Given the description of an element on the screen output the (x, y) to click on. 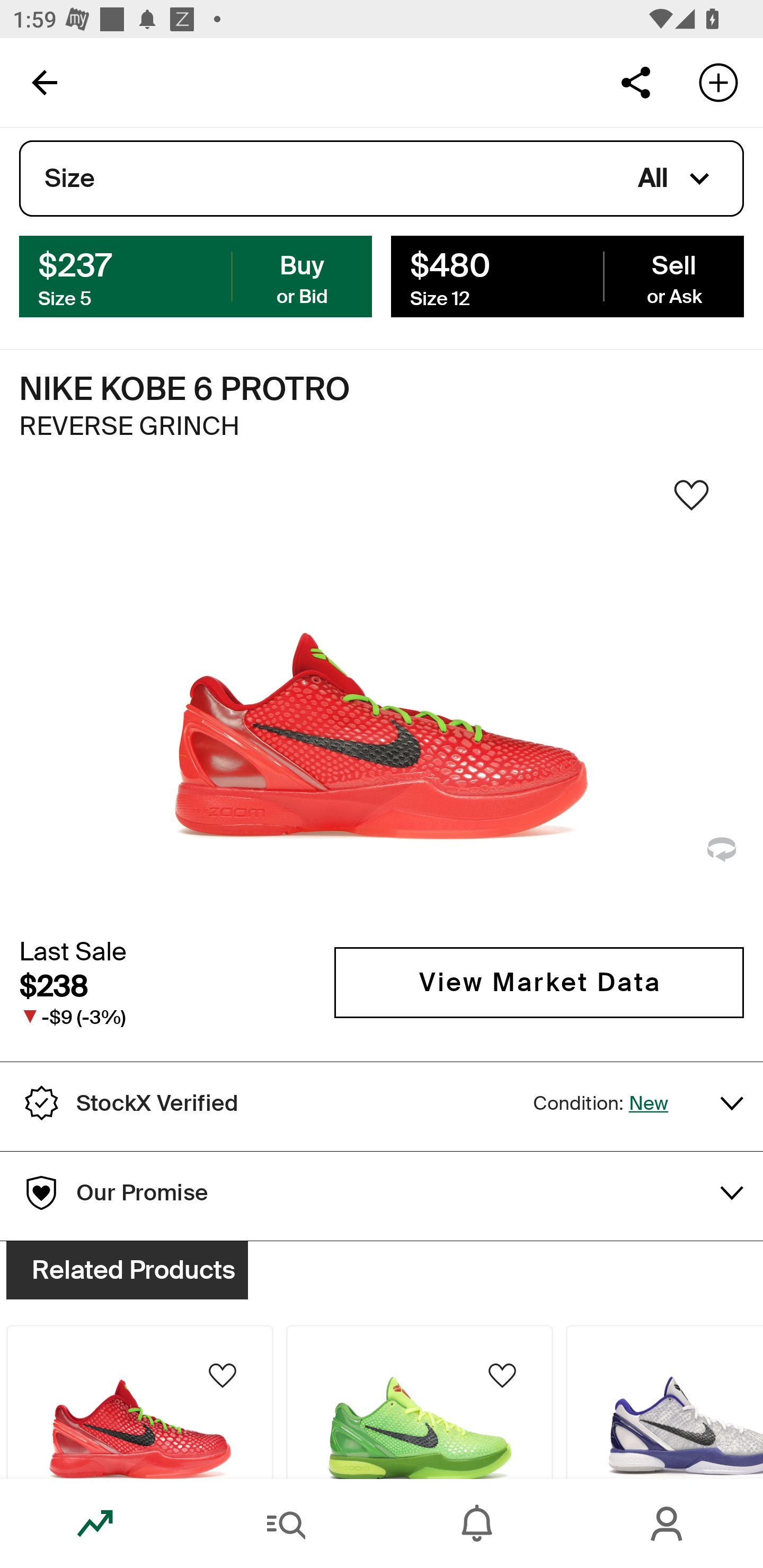
Share (635, 81)
Add (718, 81)
Size All (381, 178)
$237 Buy Size 5 or Bid (195, 275)
$480 Sell Size 12 or Ask (566, 275)
Sneaker Image (381, 699)
View Market Data (538, 982)
Product Image (139, 1401)
Product Image (419, 1401)
Product Image (664, 1401)
Search (285, 1523)
Inbox (476, 1523)
Account (667, 1523)
